Given the description of an element on the screen output the (x, y) to click on. 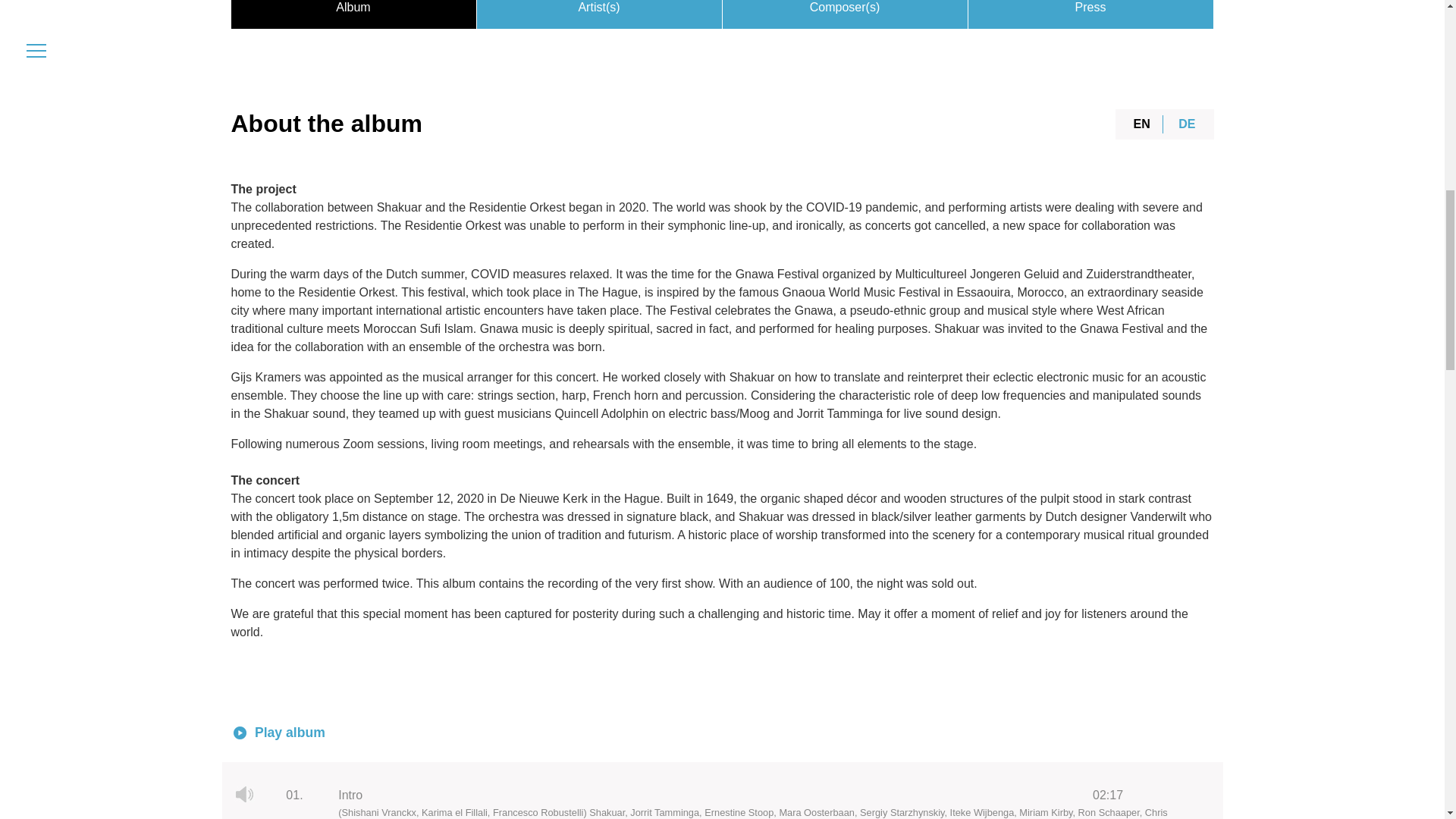
Play album (240, 732)
